Given the description of an element on the screen output the (x, y) to click on. 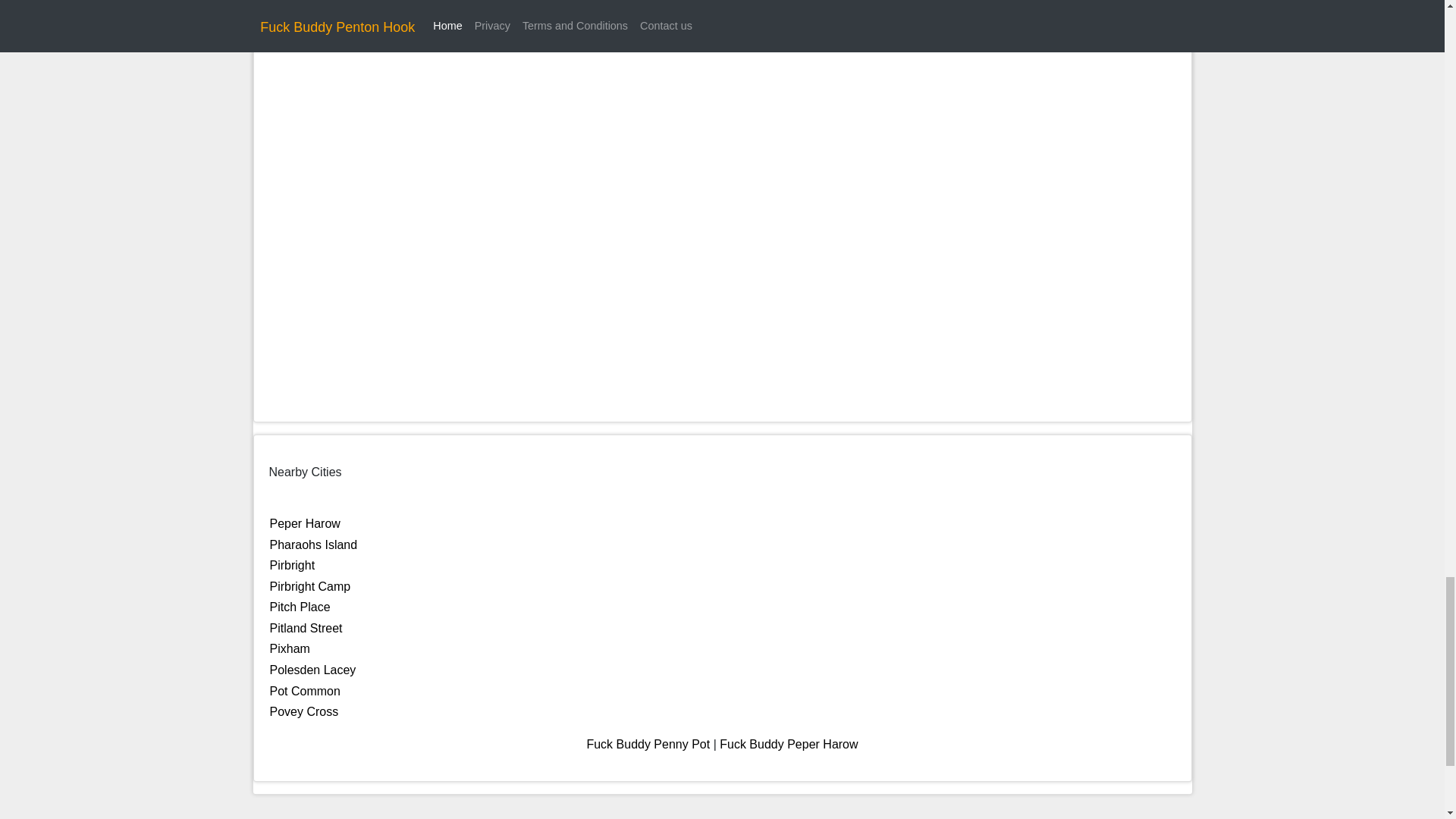
Pitch Place (299, 606)
Pirbright (292, 564)
Fuck Buddy Penny Pot (648, 744)
Pitland Street (305, 627)
Pirbright Camp (309, 585)
Pot Common (304, 690)
Pixham (289, 648)
Polesden Lacey (312, 669)
Peper Harow (304, 522)
Fuck Buddy Peper Harow (788, 744)
Pharaohs Island (313, 544)
Povey Cross (304, 711)
